Given the description of an element on the screen output the (x, y) to click on. 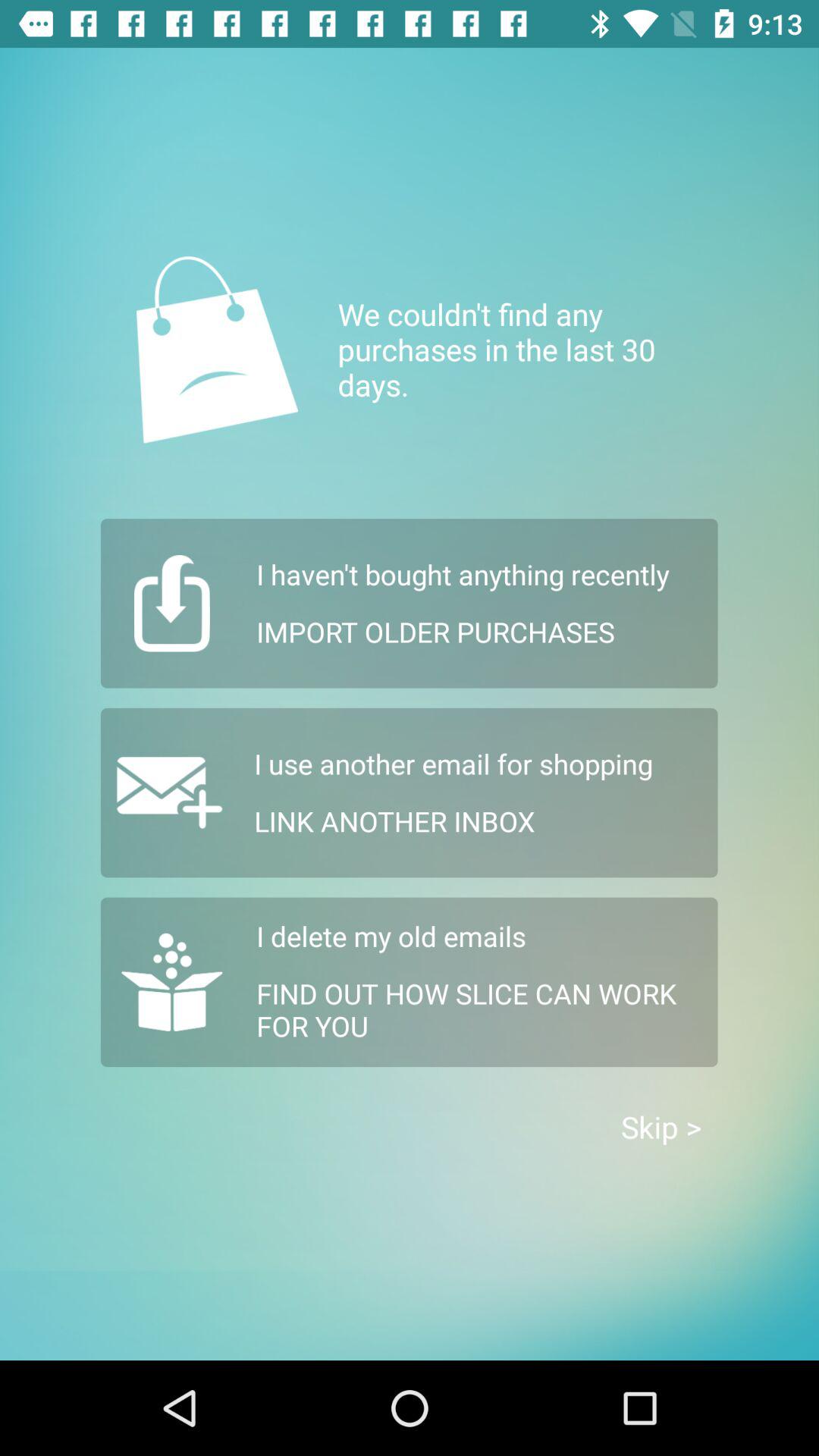
swipe until the skip > icon (661, 1126)
